Given the description of an element on the screen output the (x, y) to click on. 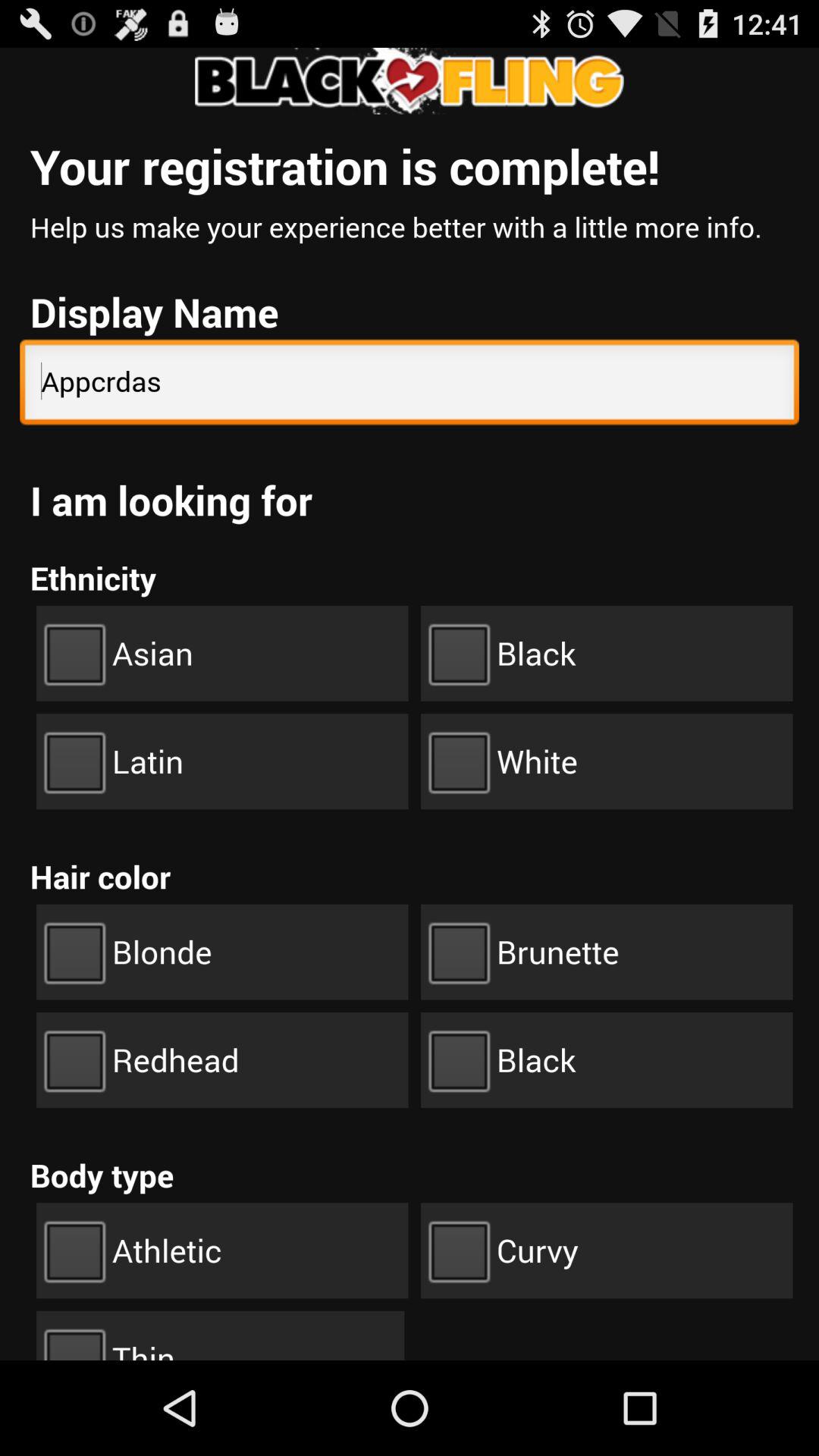
select the tittle (409, 81)
select third option under hair color (222, 1059)
select fourth option under ethnicity (606, 761)
select the check box athletic on the web page (222, 1250)
select the second option under body type (606, 1250)
